Given the description of an element on the screen output the (x, y) to click on. 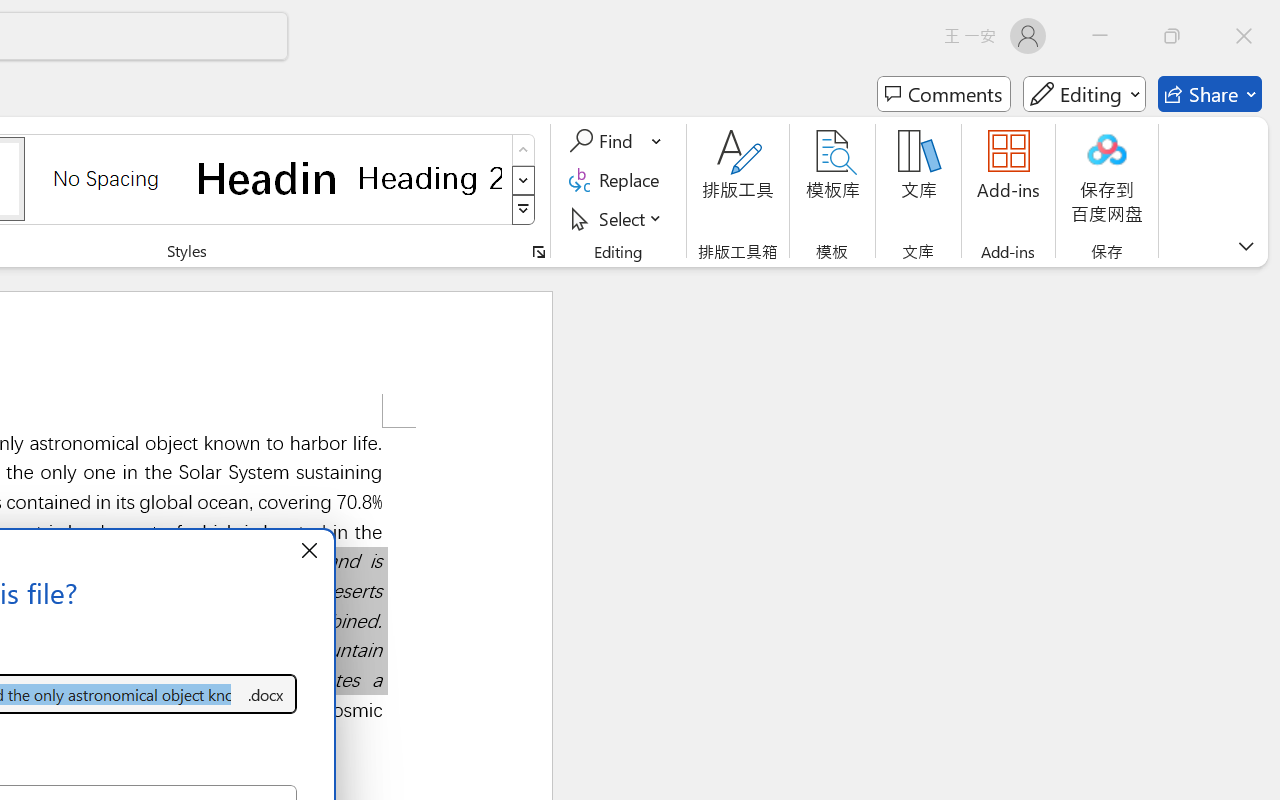
Row Down (523, 180)
Heading 2 (429, 178)
Heading 1 (267, 178)
